Given the description of an element on the screen output the (x, y) to click on. 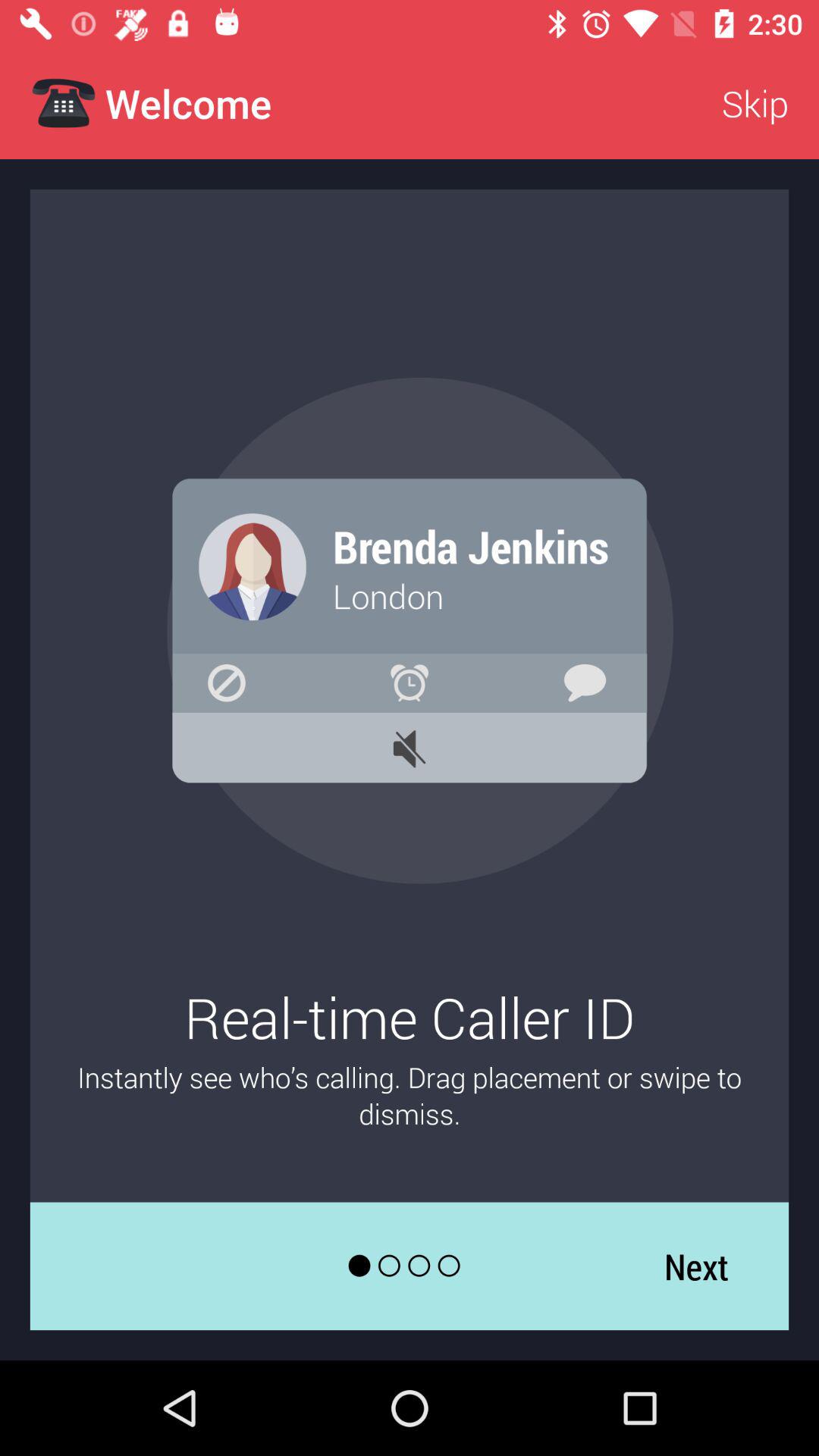
tap item to the right of the  welcome (755, 103)
